Given the description of an element on the screen output the (x, y) to click on. 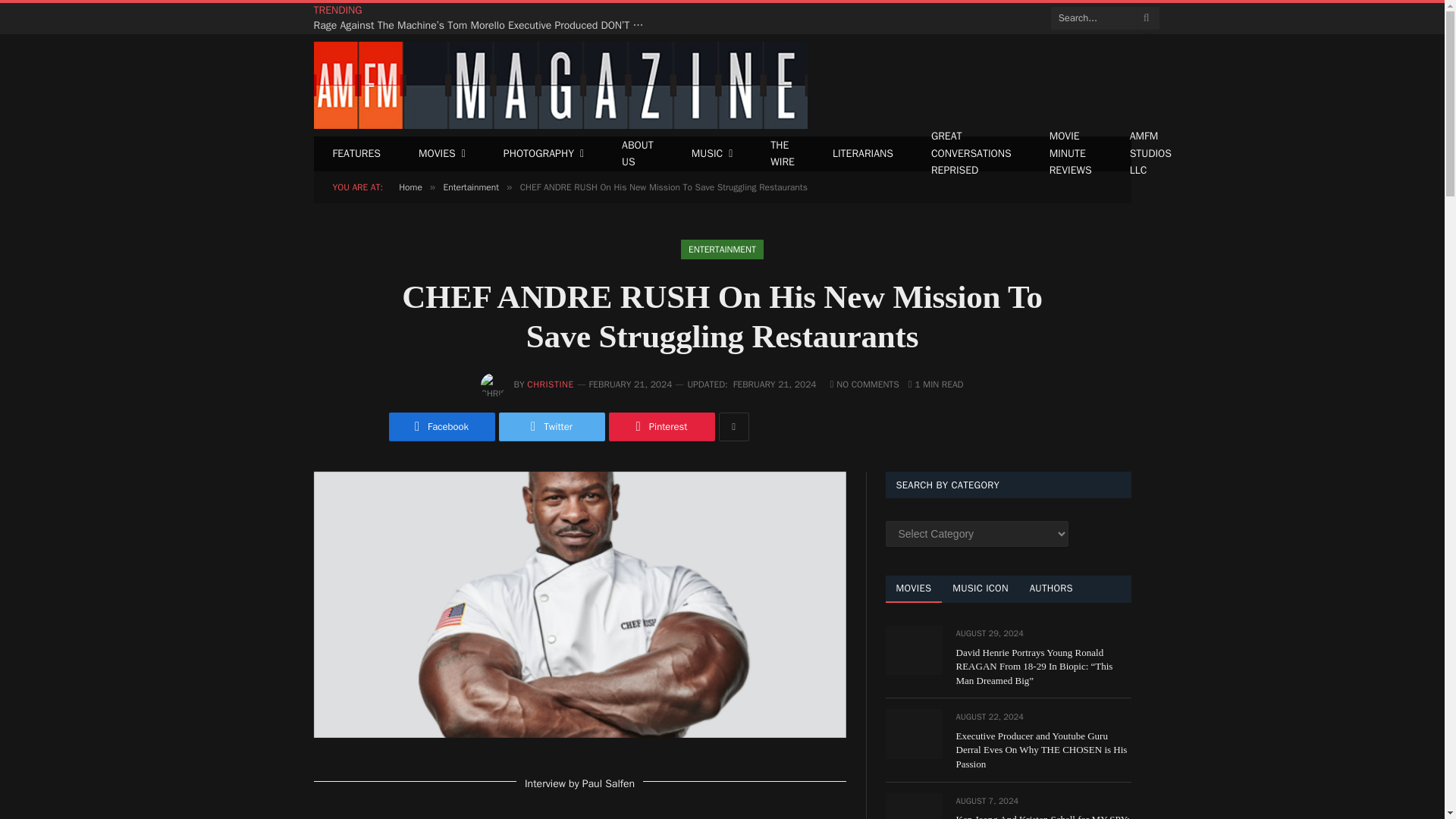
FEATURES (357, 153)
AMFM Magazine.tv (561, 85)
PHOTOGRAPHY (543, 153)
MOVIES (441, 153)
